Given the description of an element on the screen output the (x, y) to click on. 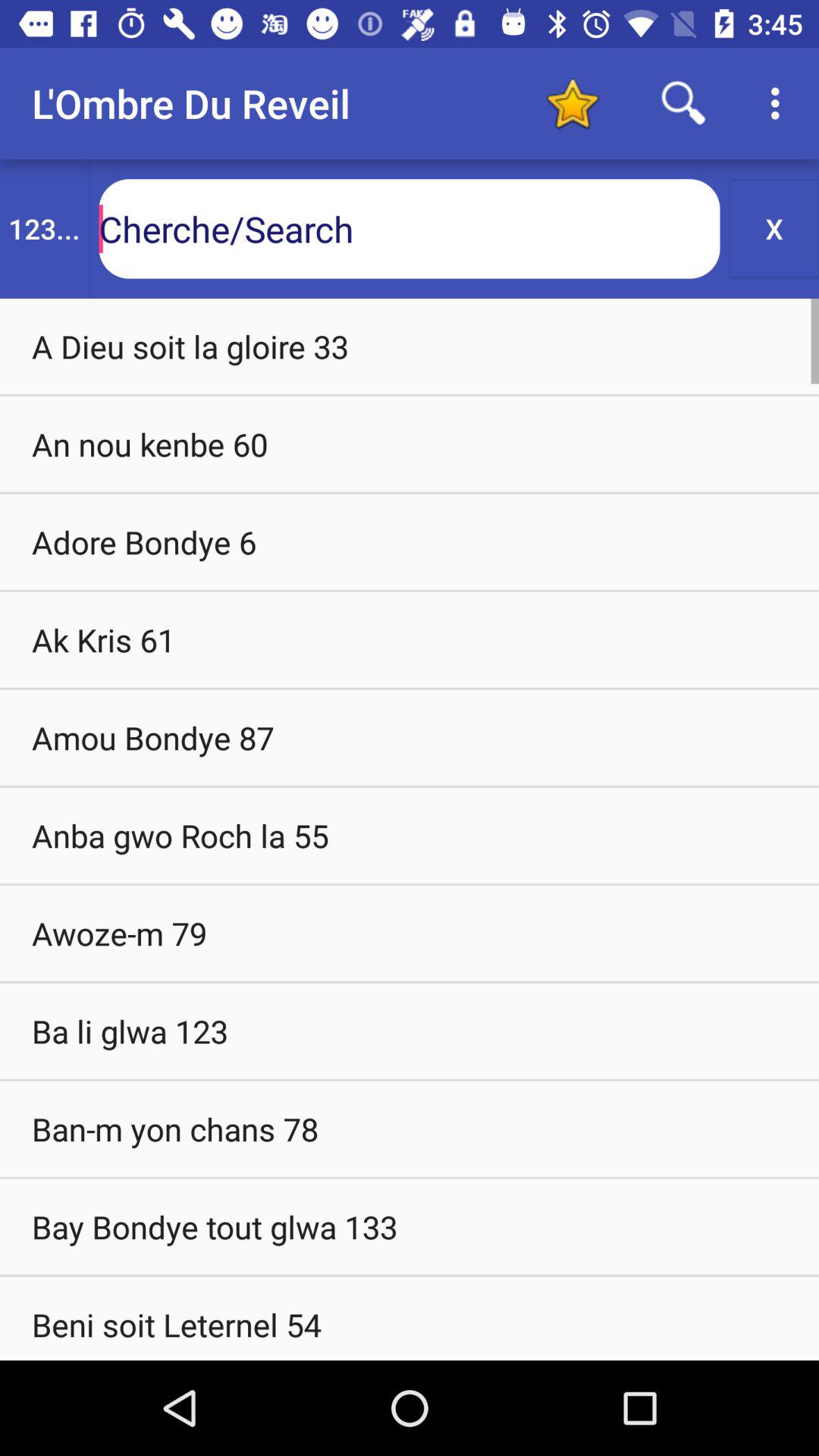
turn off the item below l ombre du item (44, 228)
